Given the description of an element on the screen output the (x, y) to click on. 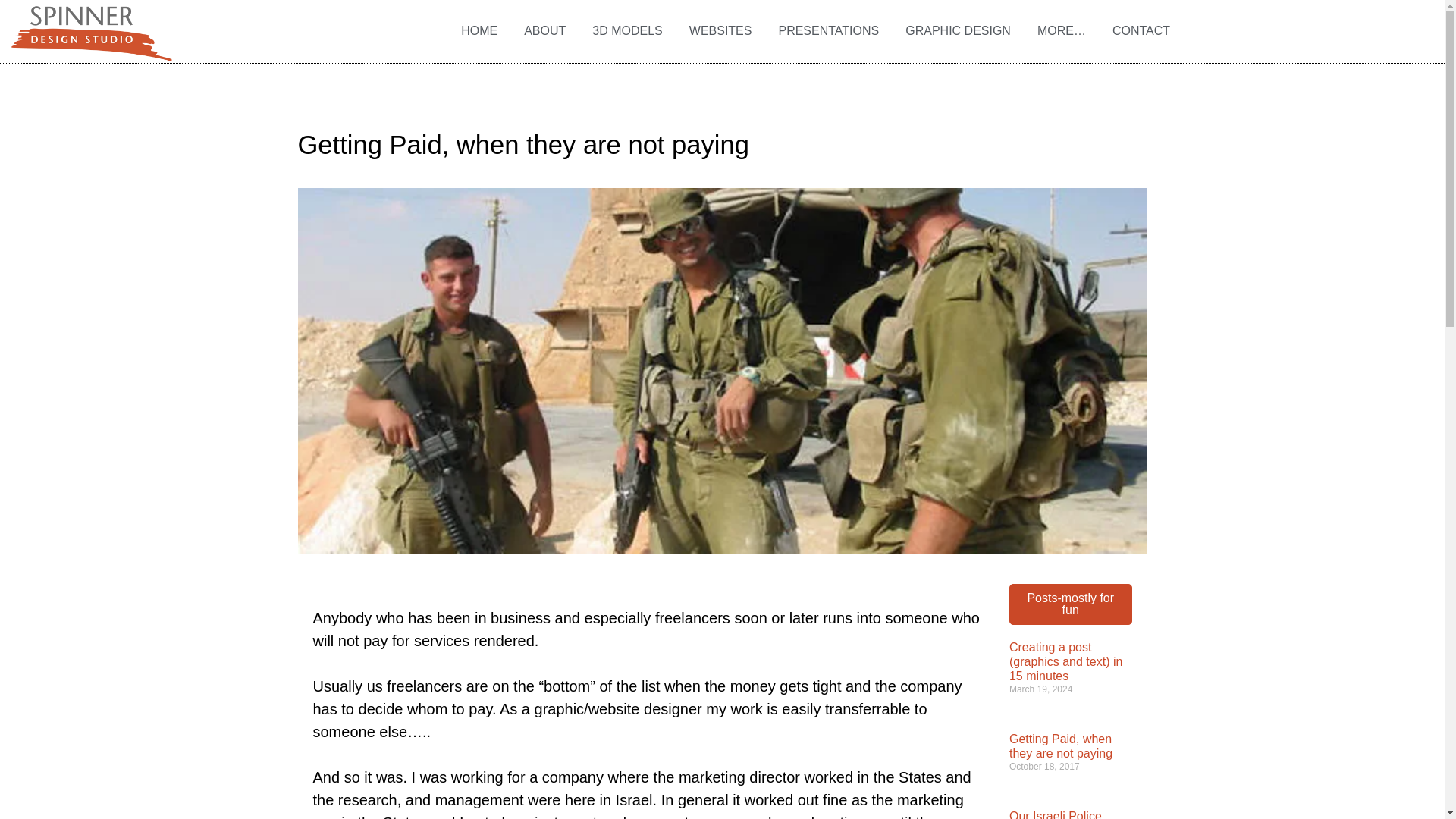
ABOUT (545, 31)
Getting Paid, when they are not paying (1060, 746)
3D MODELS (627, 31)
Our Israeli Police (1055, 814)
WEBSITES (720, 31)
Posts-mostly for fun (1070, 603)
CONTACT (1141, 31)
GRAPHIC DESIGN (958, 31)
HOME (478, 31)
PRESENTATIONS (828, 31)
